Given the description of an element on the screen output the (x, y) to click on. 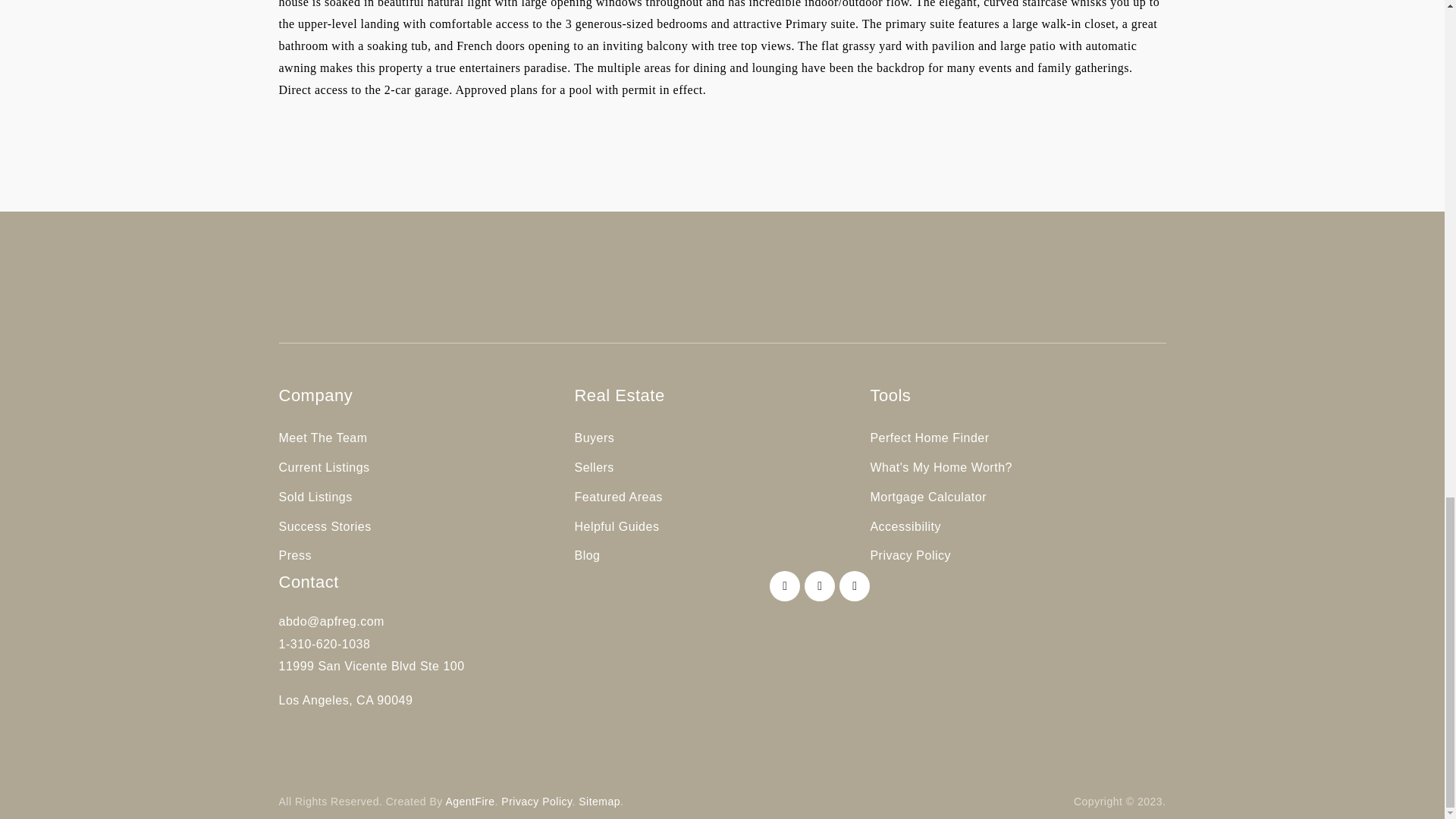
Read our privacy policy (536, 801)
APF Realty Phone (325, 644)
